Given the description of an element on the screen output the (x, y) to click on. 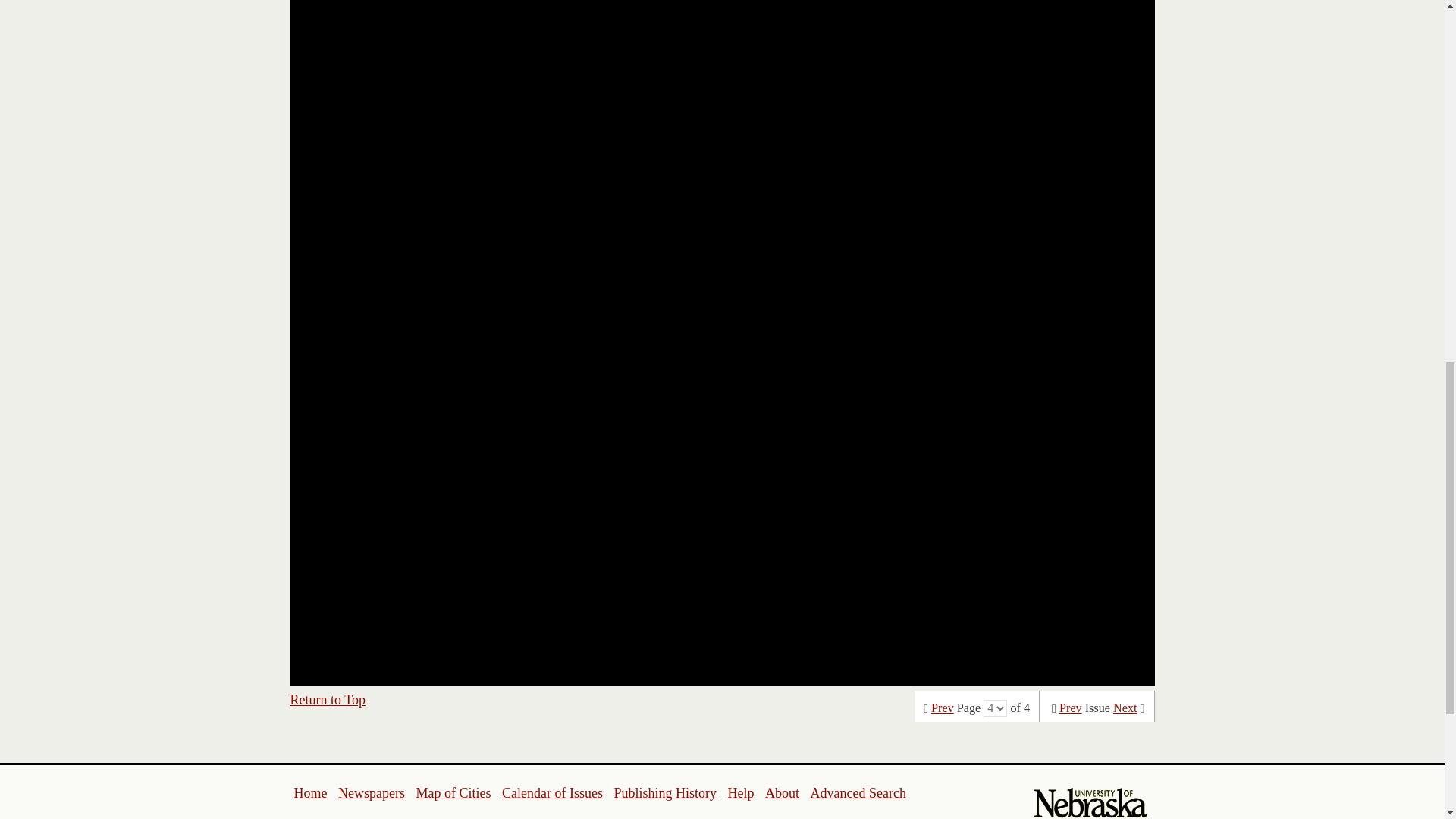
Help (740, 792)
Calendar of Issues (552, 792)
Advanced Search (857, 792)
Map of Cities (452, 792)
Return to Top (327, 699)
Prev (942, 707)
Home (310, 792)
Prev (1070, 707)
About (782, 792)
Next (1125, 707)
Newspapers (370, 792)
Publishing History (664, 792)
